Given the description of an element on the screen output the (x, y) to click on. 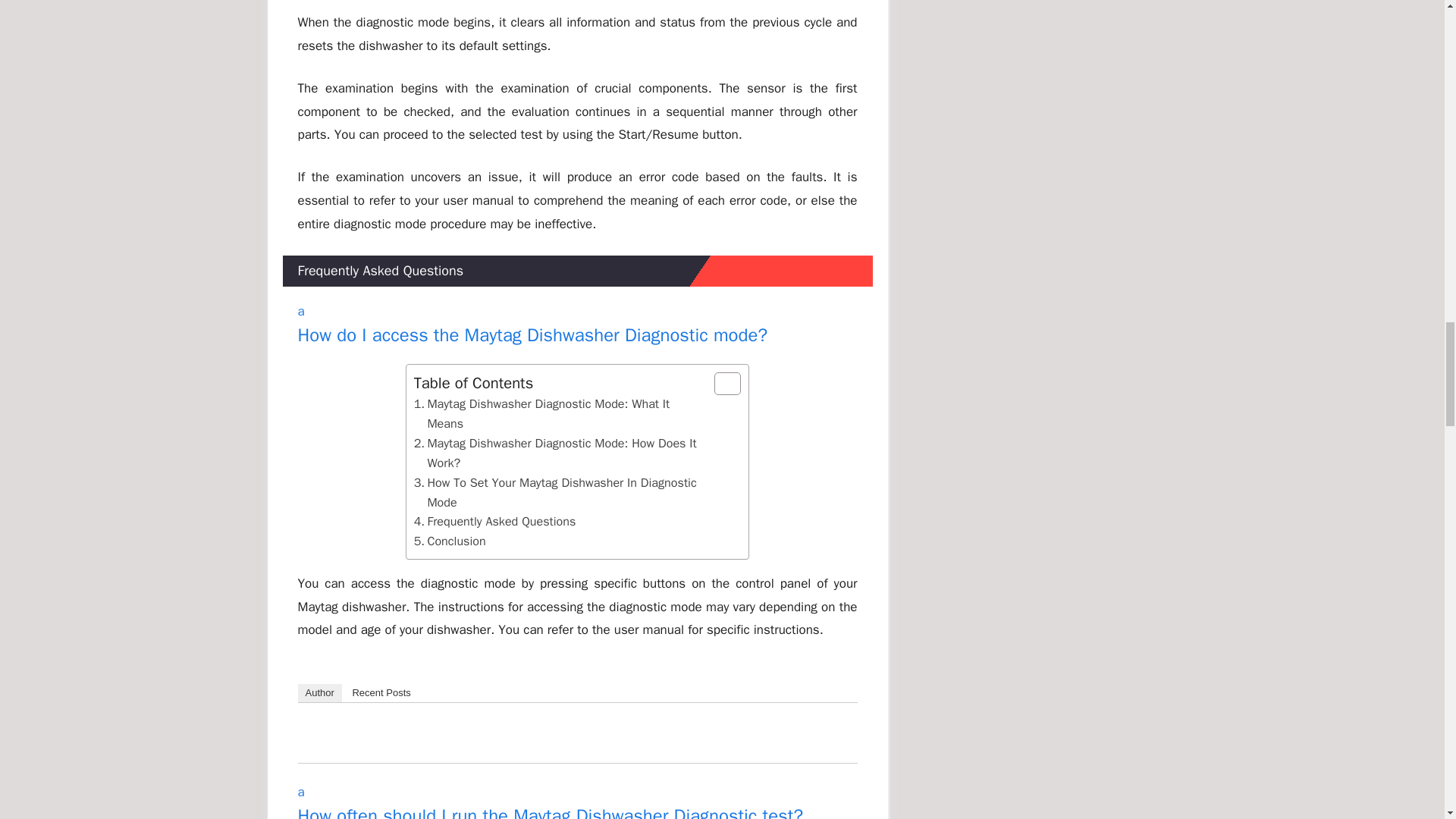
Frequently Asked Questions (494, 521)
How To Set Your Maytag Dishwasher In Diagnostic Mode (560, 492)
Recent Posts (380, 692)
Frequently Asked Questions (577, 325)
How To Set Your Maytag Dishwasher In Diagnostic Mode (494, 521)
Maytag Dishwasher Diagnostic Mode: What It Means (560, 492)
Conclusion (560, 413)
Maytag Dishwasher Diagnostic Mode: What It Means (449, 541)
